Given the description of an element on the screen output the (x, y) to click on. 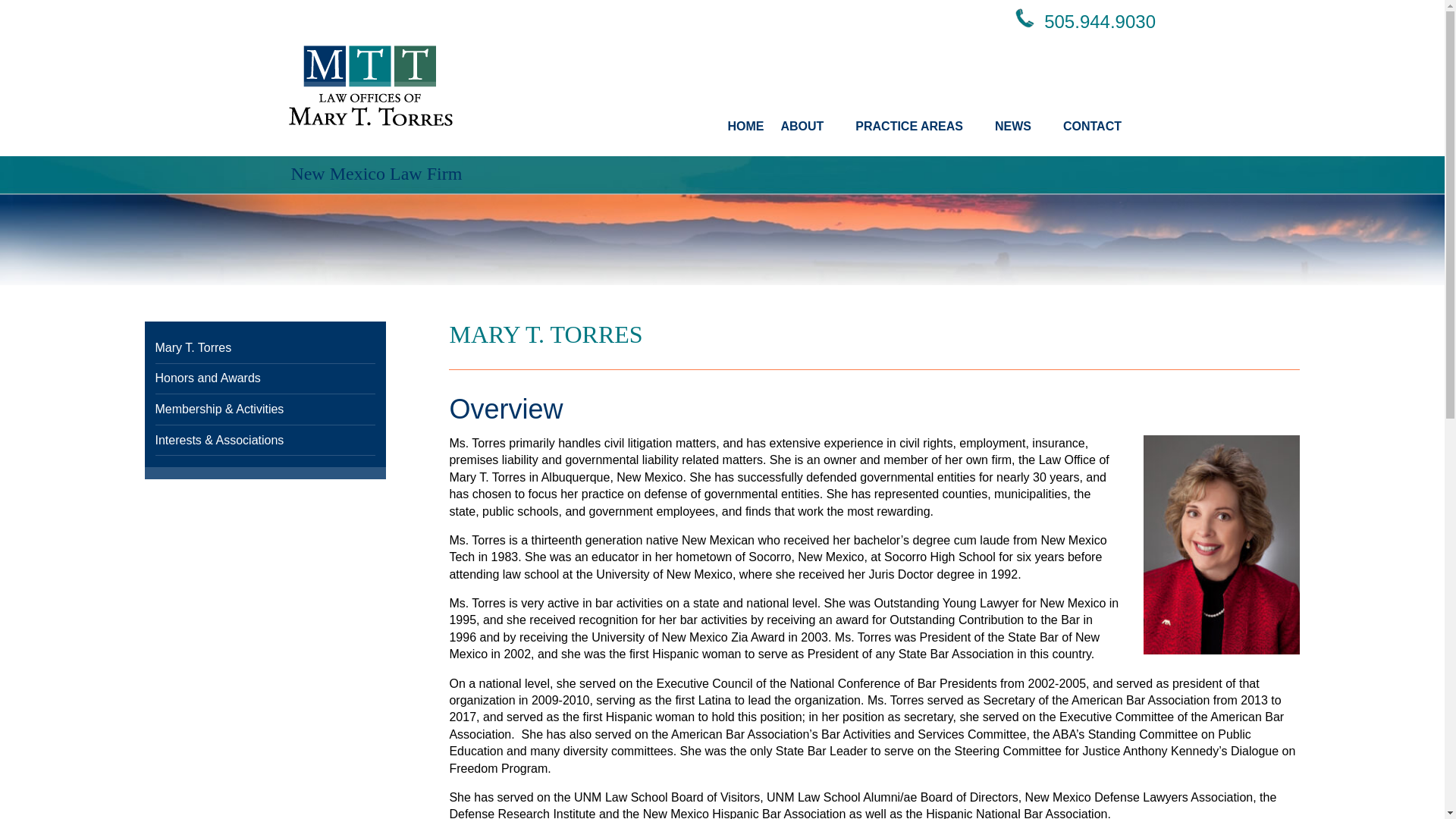
PRACTICE AREAS (917, 126)
CONTACT (1099, 126)
HOME (744, 126)
Law Offices of Mary T. Torres Law logo (370, 85)
NEWS (1020, 126)
ABOUT (809, 126)
505.944.9030 (1099, 21)
